Given the description of an element on the screen output the (x, y) to click on. 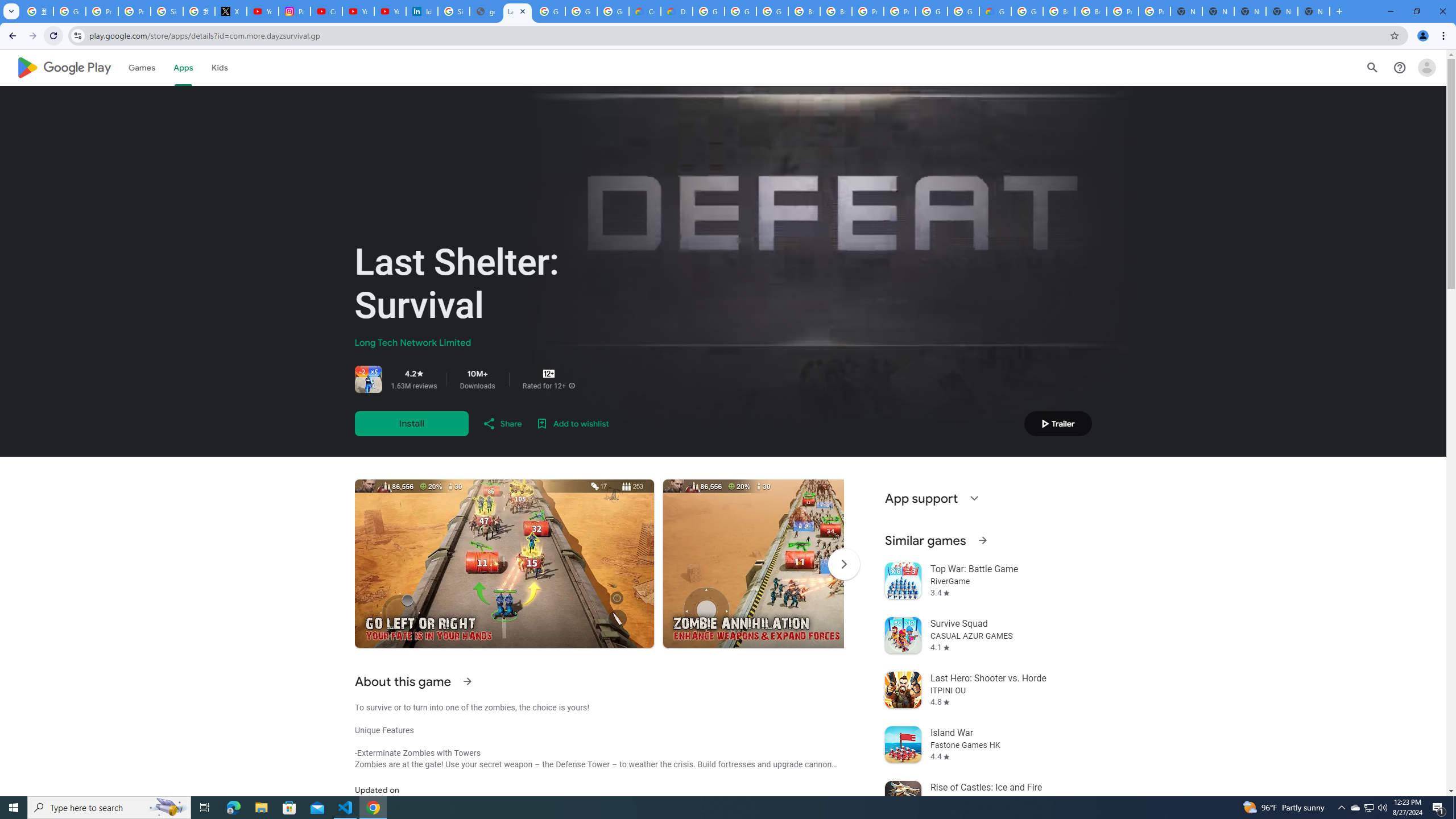
Google Cloud Platform (963, 11)
